Given the description of an element on the screen output the (x, y) to click on. 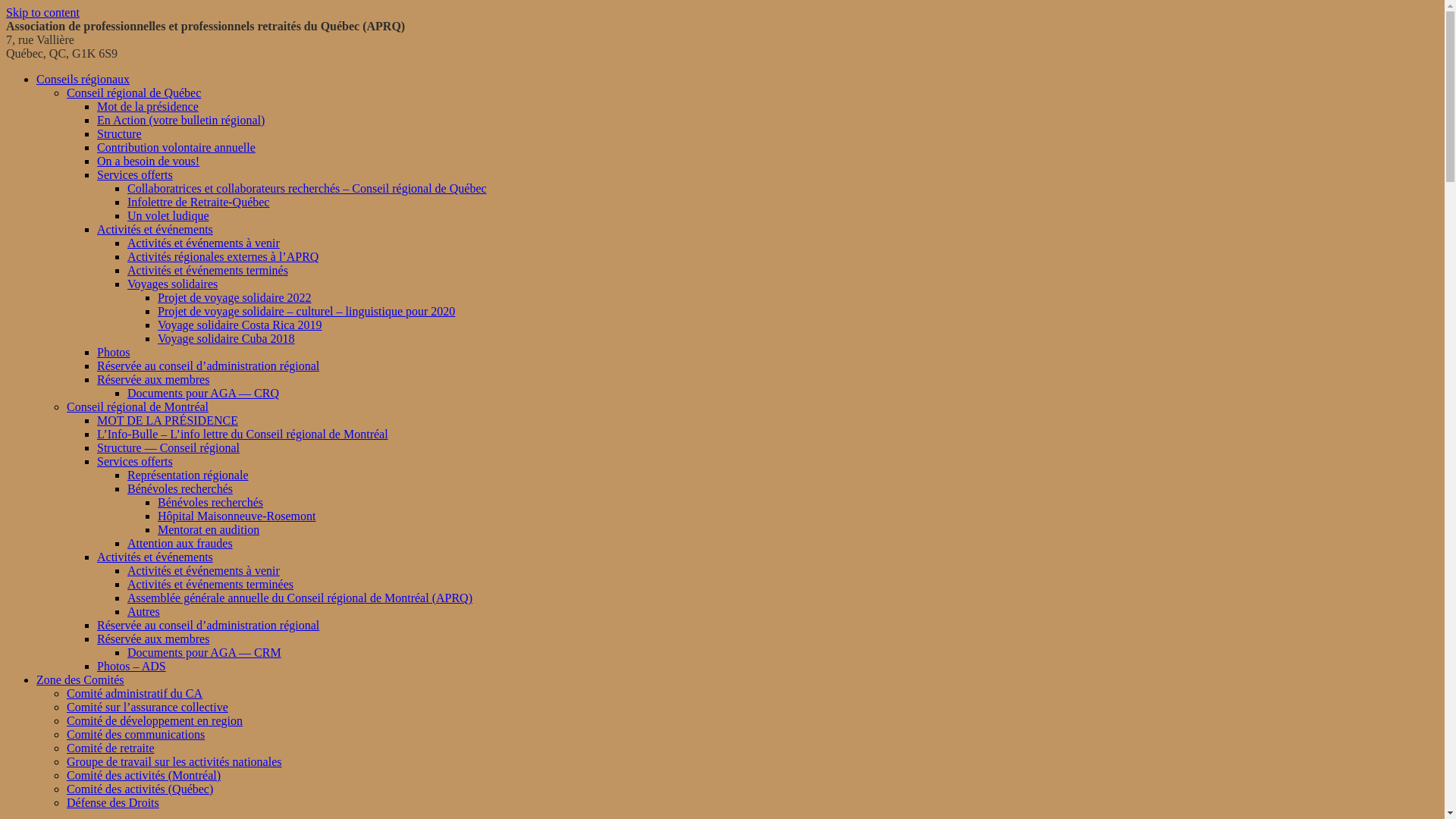
Attention aux fraudes Element type: text (179, 542)
Autres Element type: text (143, 611)
Projet de voyage solidaire 2022 Element type: text (234, 297)
Contribution volontaire annuelle Element type: text (176, 147)
Photos Element type: text (113, 351)
Un volet ludique Element type: text (168, 215)
Mentorat en audition Element type: text (208, 529)
On a besoin de vous! Element type: text (148, 160)
Voyage solidaire Costa Rica 2019 Element type: text (239, 324)
Skip to content Element type: text (42, 12)
Services offerts Element type: text (134, 461)
Structure Element type: text (119, 133)
Services offerts Element type: text (134, 174)
Voyage solidaire Cuba 2018 Element type: text (225, 338)
Voyages solidaires Element type: text (172, 283)
